Given the description of an element on the screen output the (x, y) to click on. 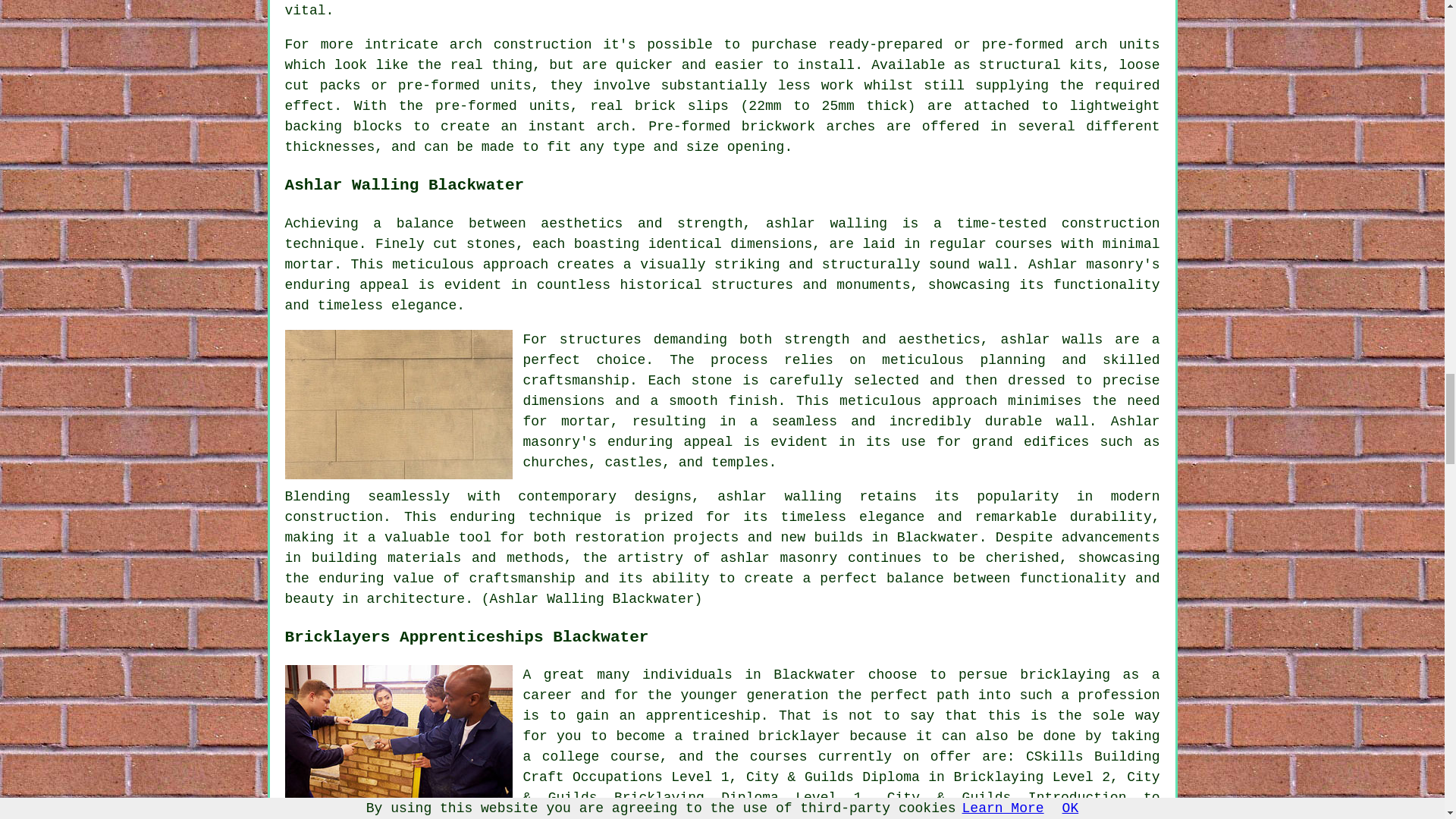
Ashlar Walling Blackwater (398, 404)
Bricklaying Apprenticeships Blackwater (398, 739)
